Given the description of an element on the screen output the (x, y) to click on. 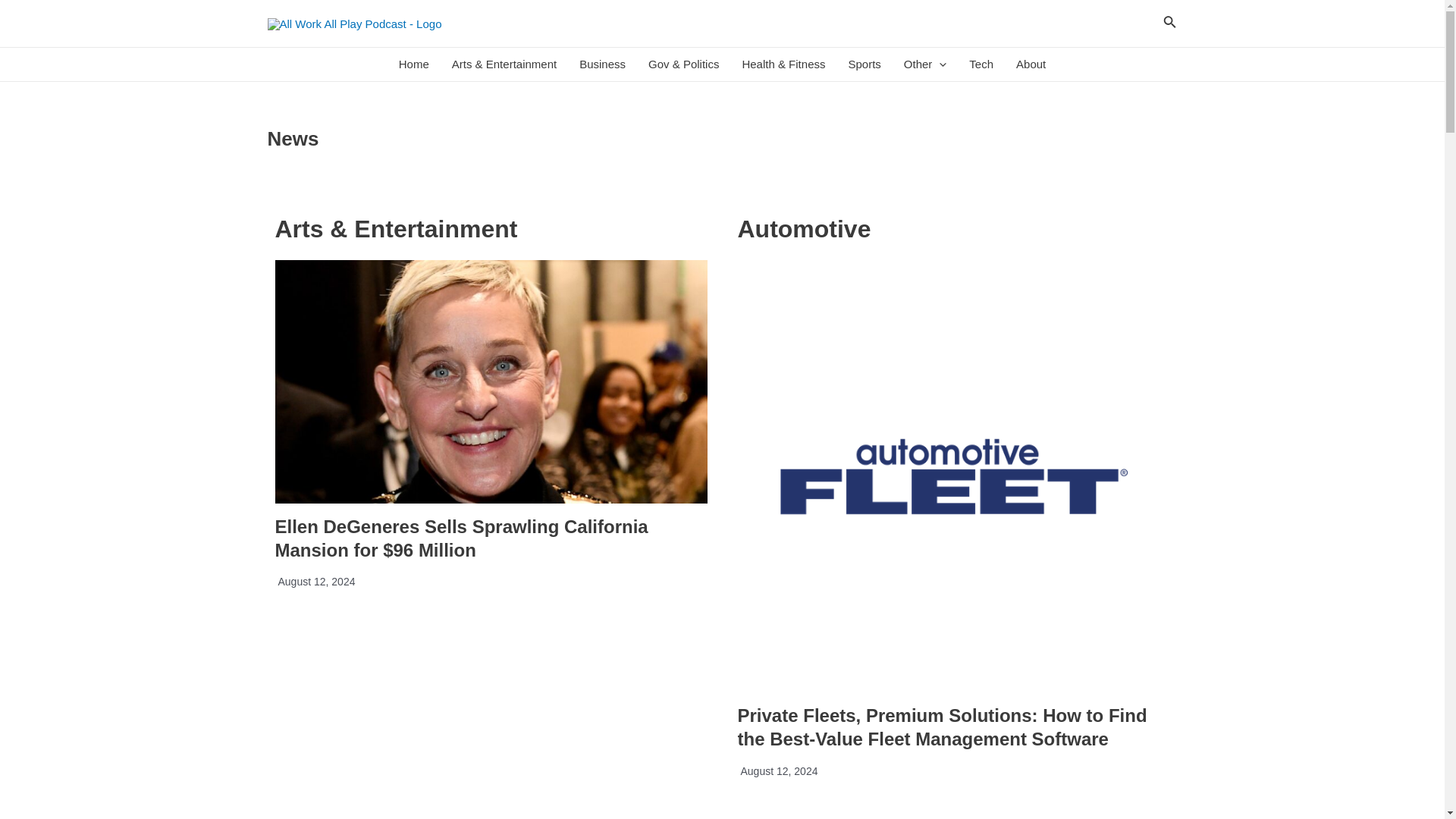
About (1030, 64)
Tech (981, 64)
Sports (863, 64)
Business (602, 64)
Other (925, 64)
Home (414, 64)
